Given the description of an element on the screen output the (x, y) to click on. 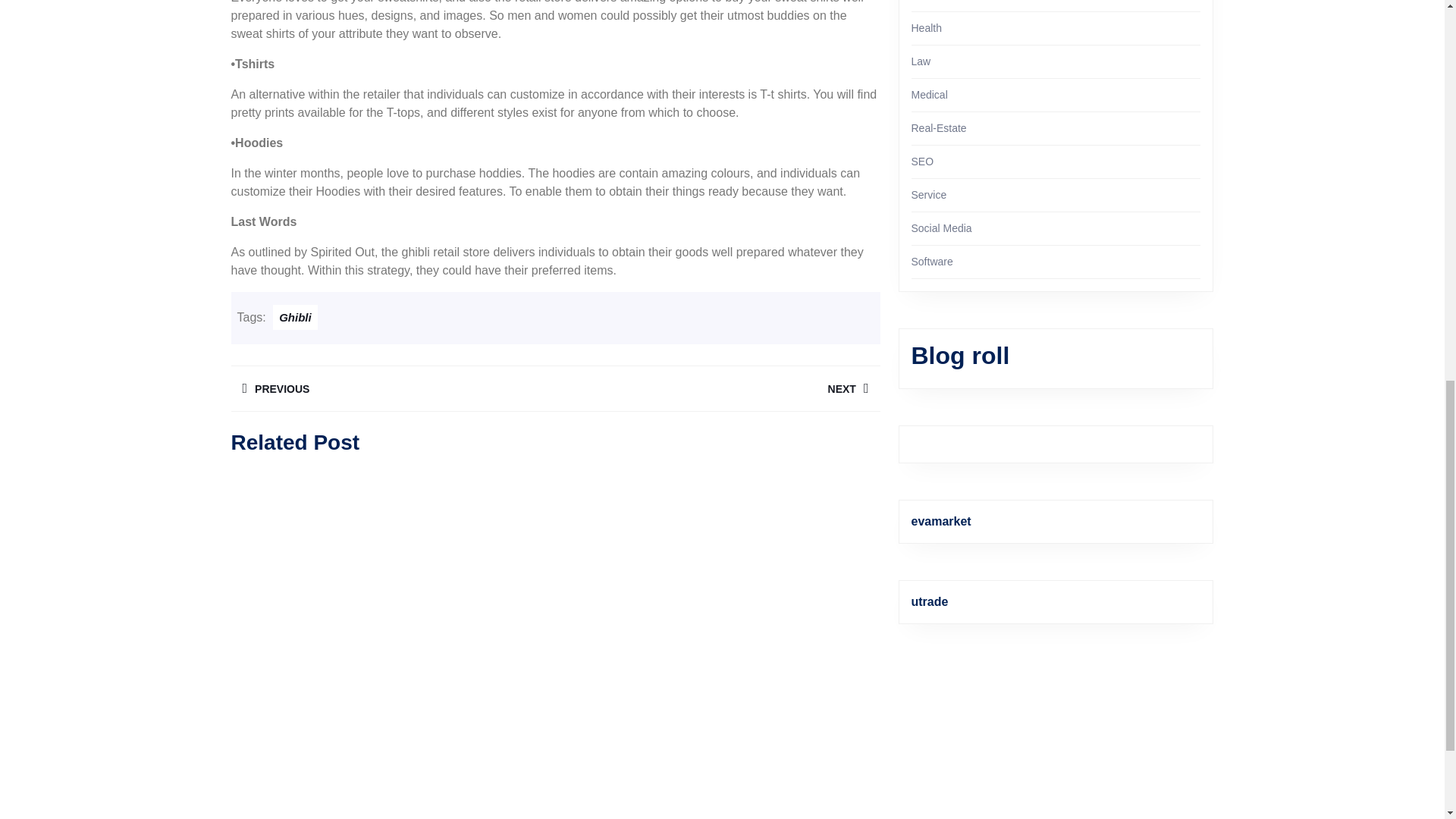
Real-Estate (938, 128)
Ghibli (295, 317)
SEO (922, 161)
Law (921, 61)
Health (926, 28)
Medical (392, 388)
